Given the description of an element on the screen output the (x, y) to click on. 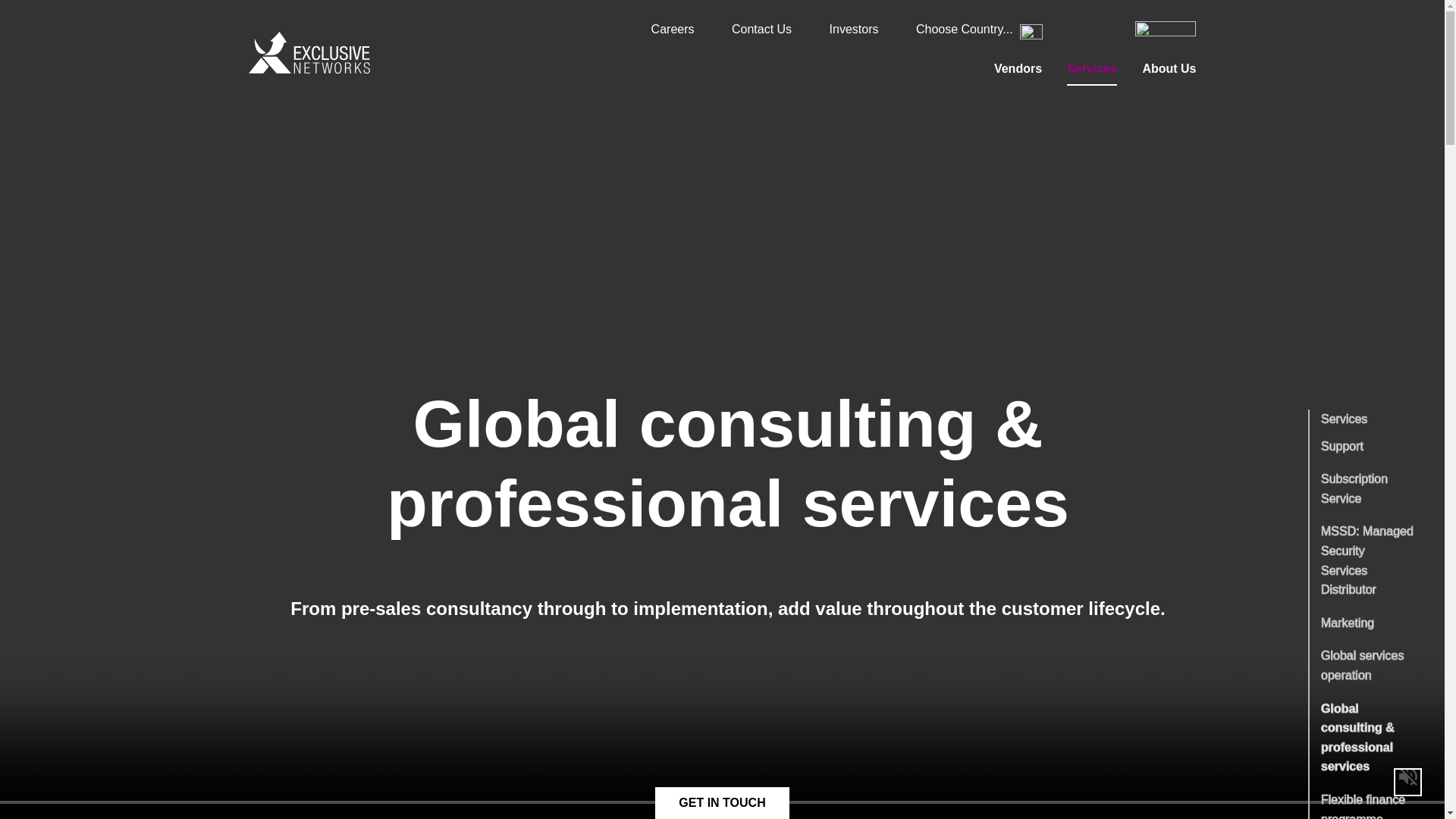
Investors (854, 29)
Careers (672, 29)
Contact Us (762, 29)
